Given the description of an element on the screen output the (x, y) to click on. 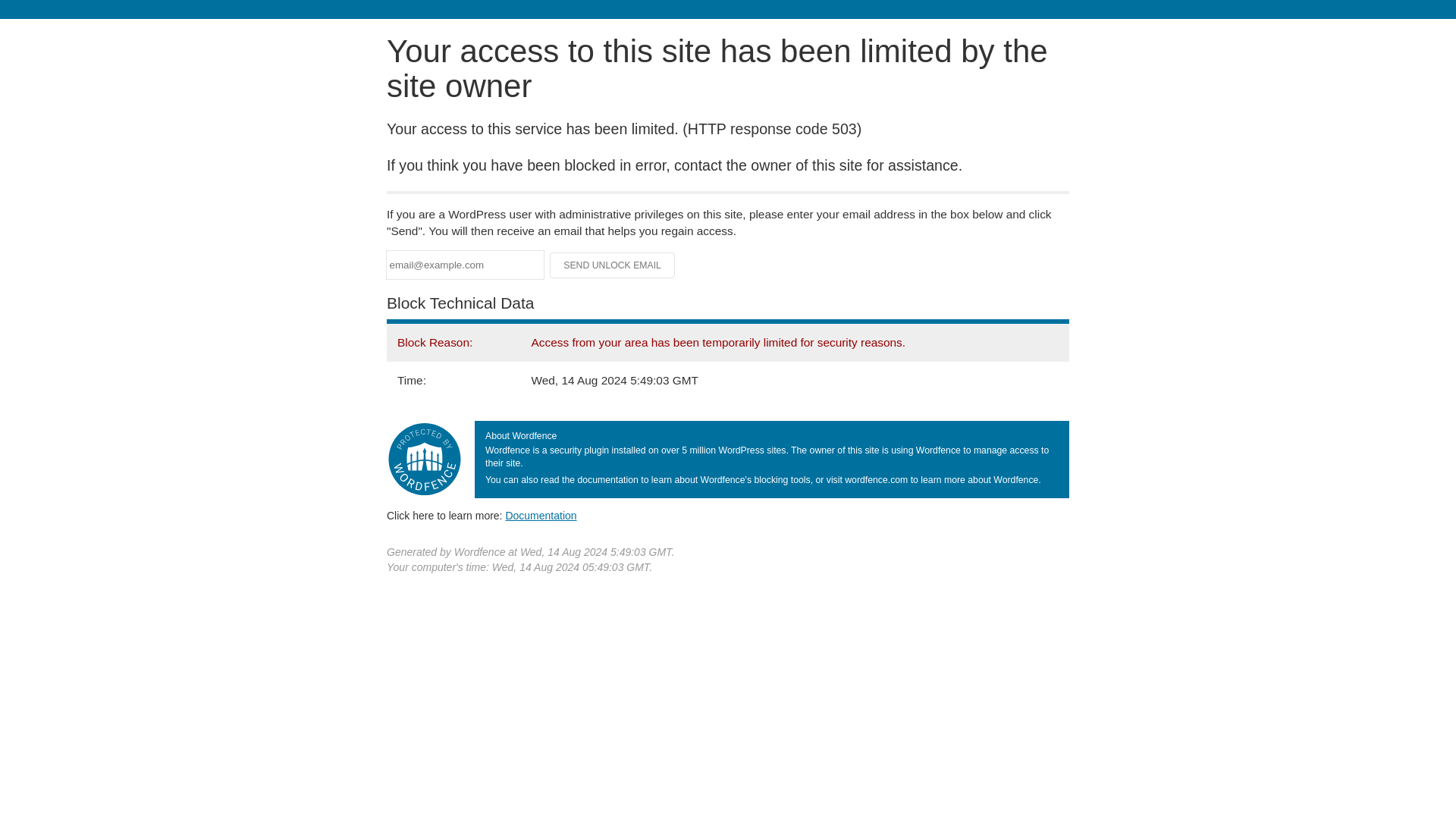
Documentation (540, 515)
Send Unlock Email (612, 265)
Send Unlock Email (612, 265)
